Given the description of an element on the screen output the (x, y) to click on. 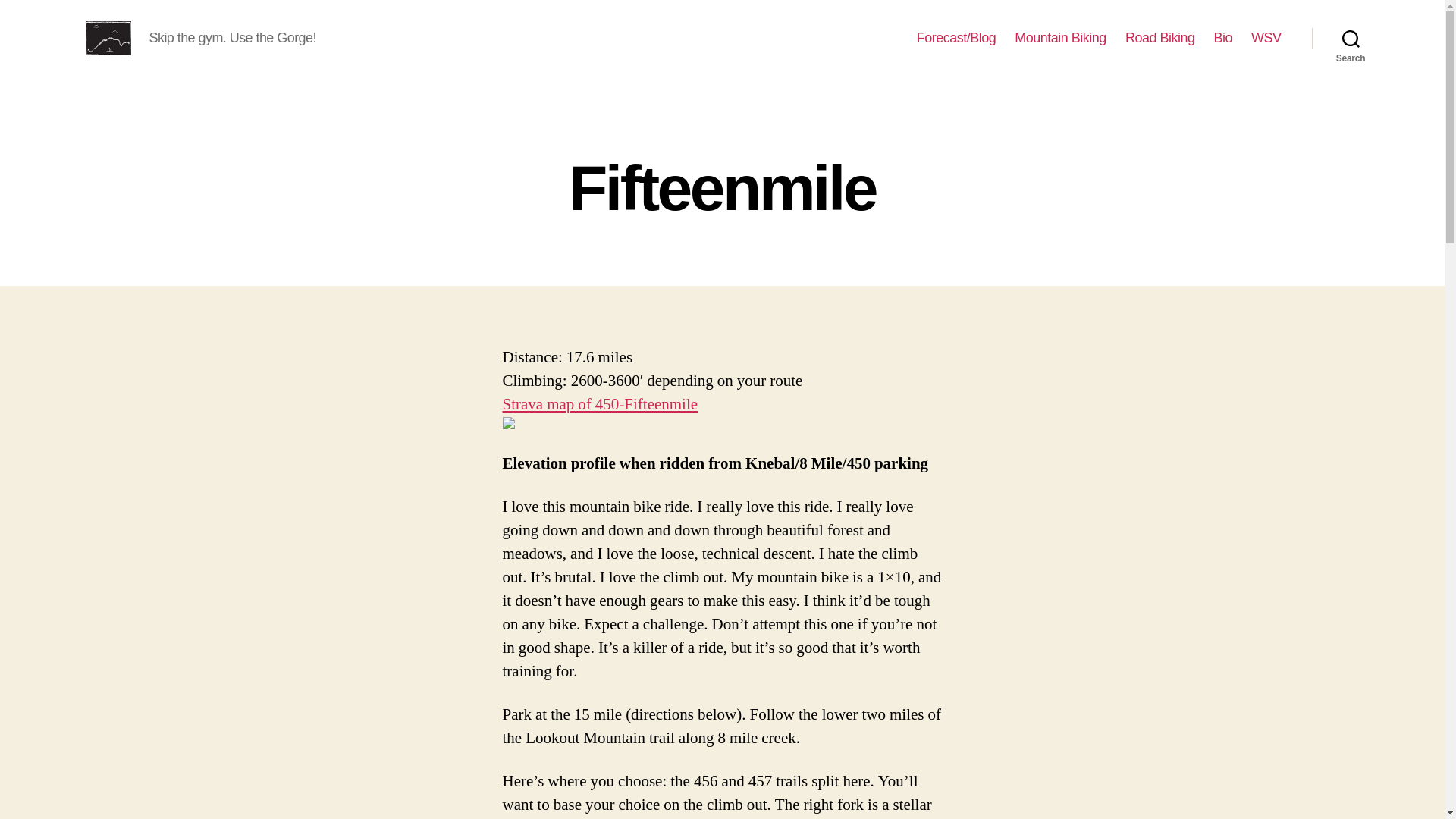
Ride descriptions, maps and gps files (1160, 38)
Gorge wind and Mt. Hood snow (956, 38)
Mountain Biking (1060, 38)
Search (1350, 37)
Trail conditions and descriptions (1060, 38)
More about Temira, your forecaster (1221, 38)
WSV (1265, 38)
Bio (1221, 38)
Road Biking (1160, 38)
Strava map of 450-Fifteenmile (599, 403)
